Given the description of an element on the screen output the (x, y) to click on. 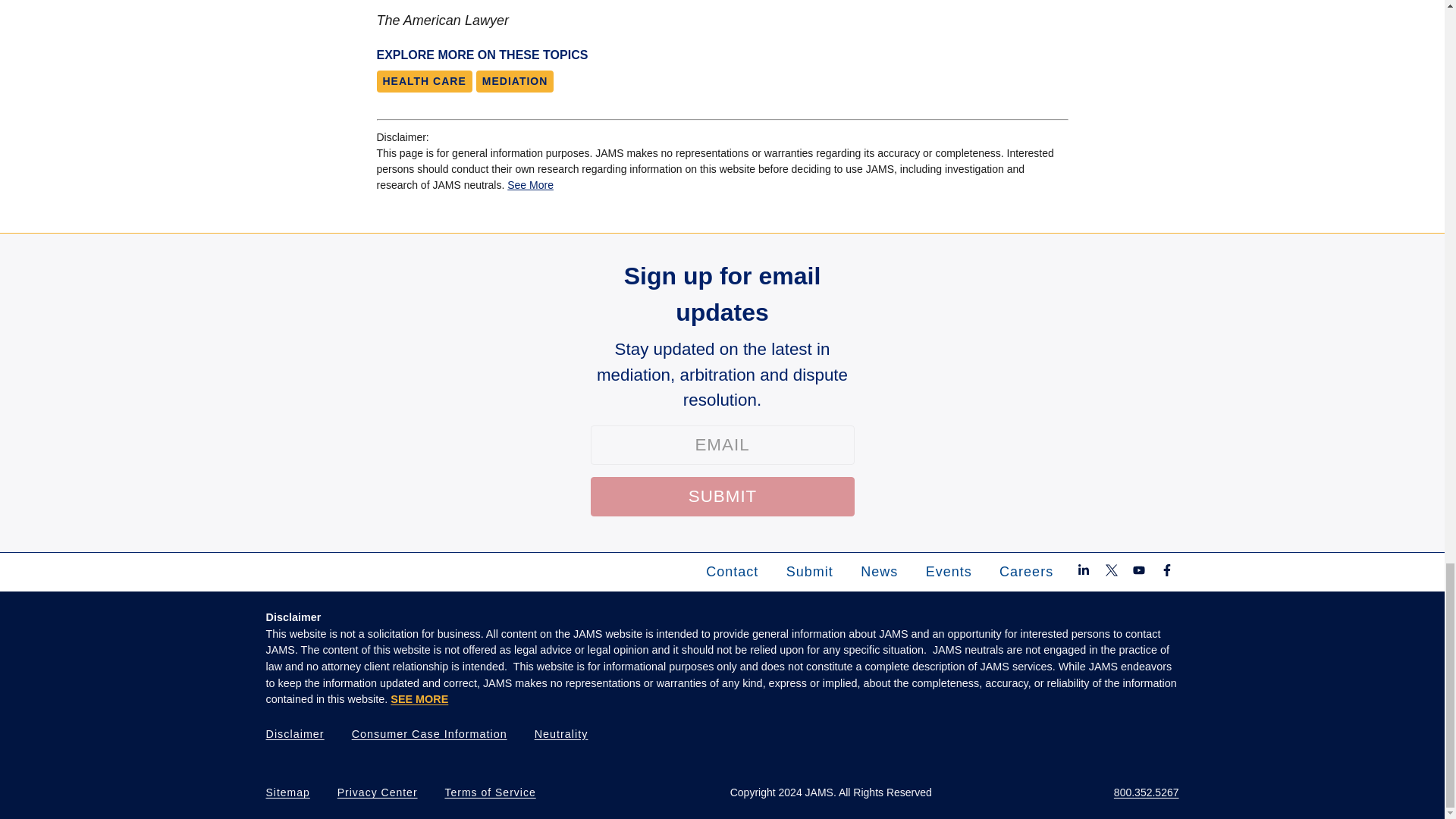
See More of Disclaimer (419, 698)
SUBMIT (721, 496)
